Given the description of an element on the screen output the (x, y) to click on. 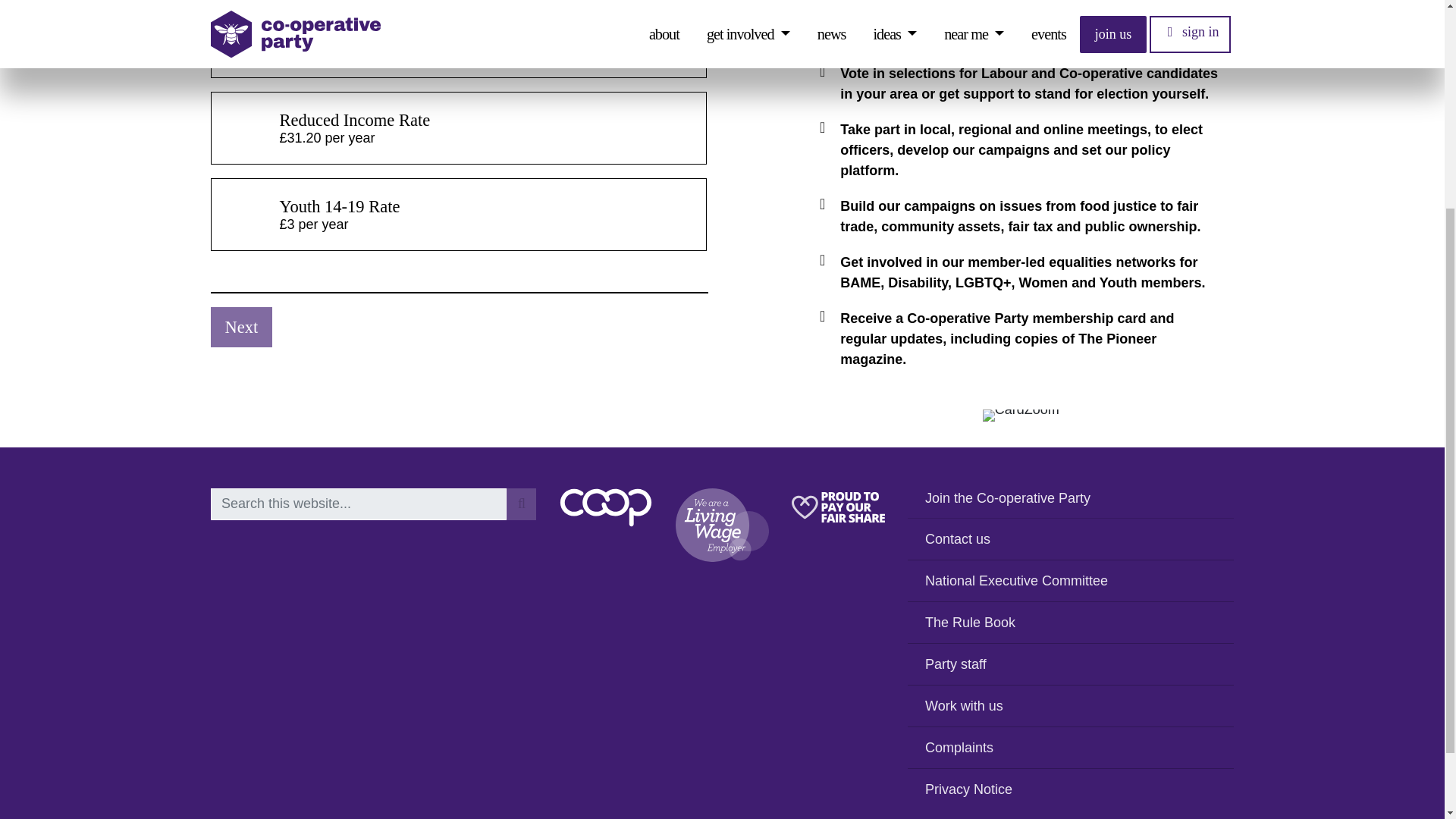
Next (242, 327)
